Given the description of an element on the screen output the (x, y) to click on. 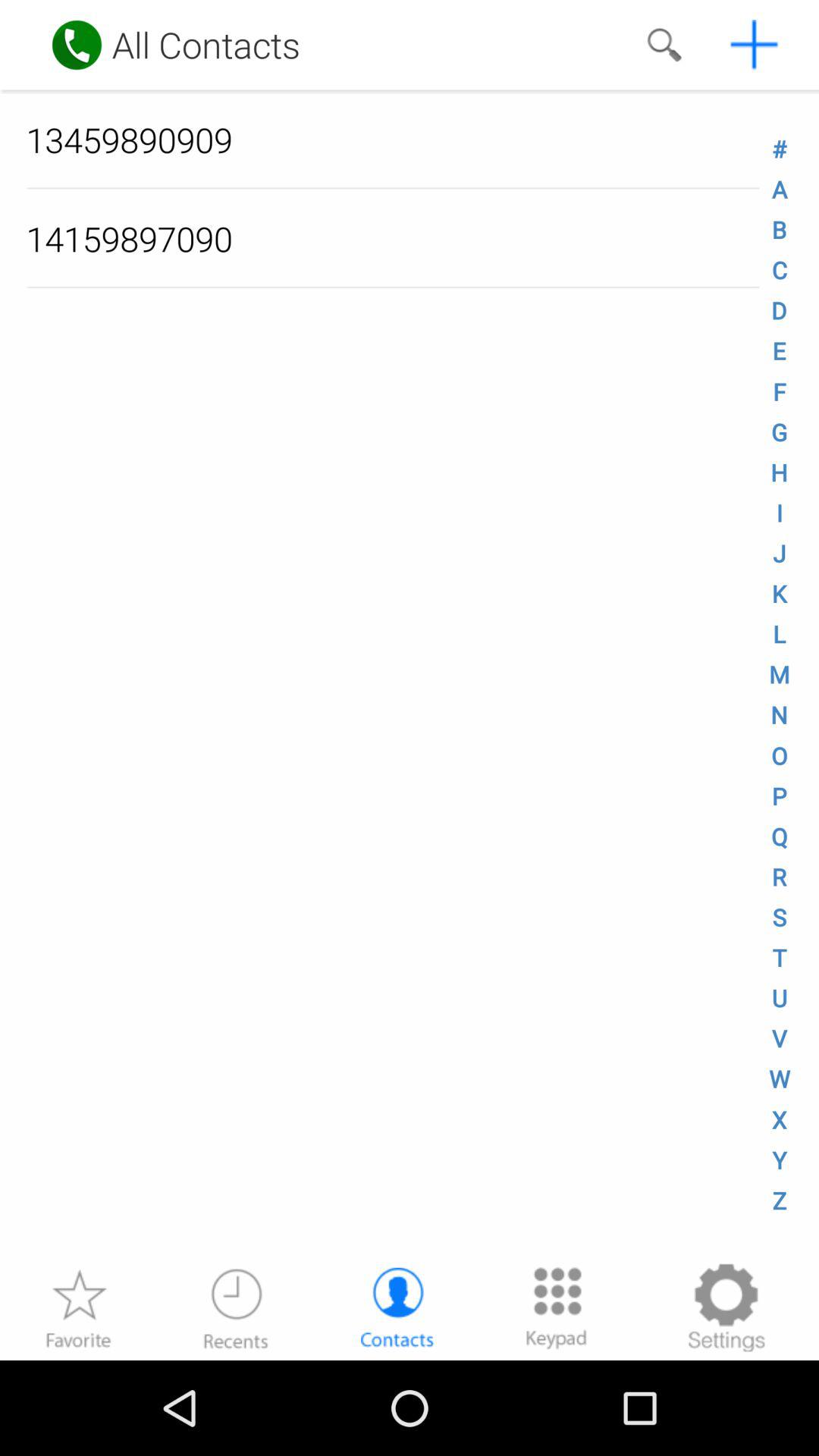
search contacts (664, 44)
